Given the description of an element on the screen output the (x, y) to click on. 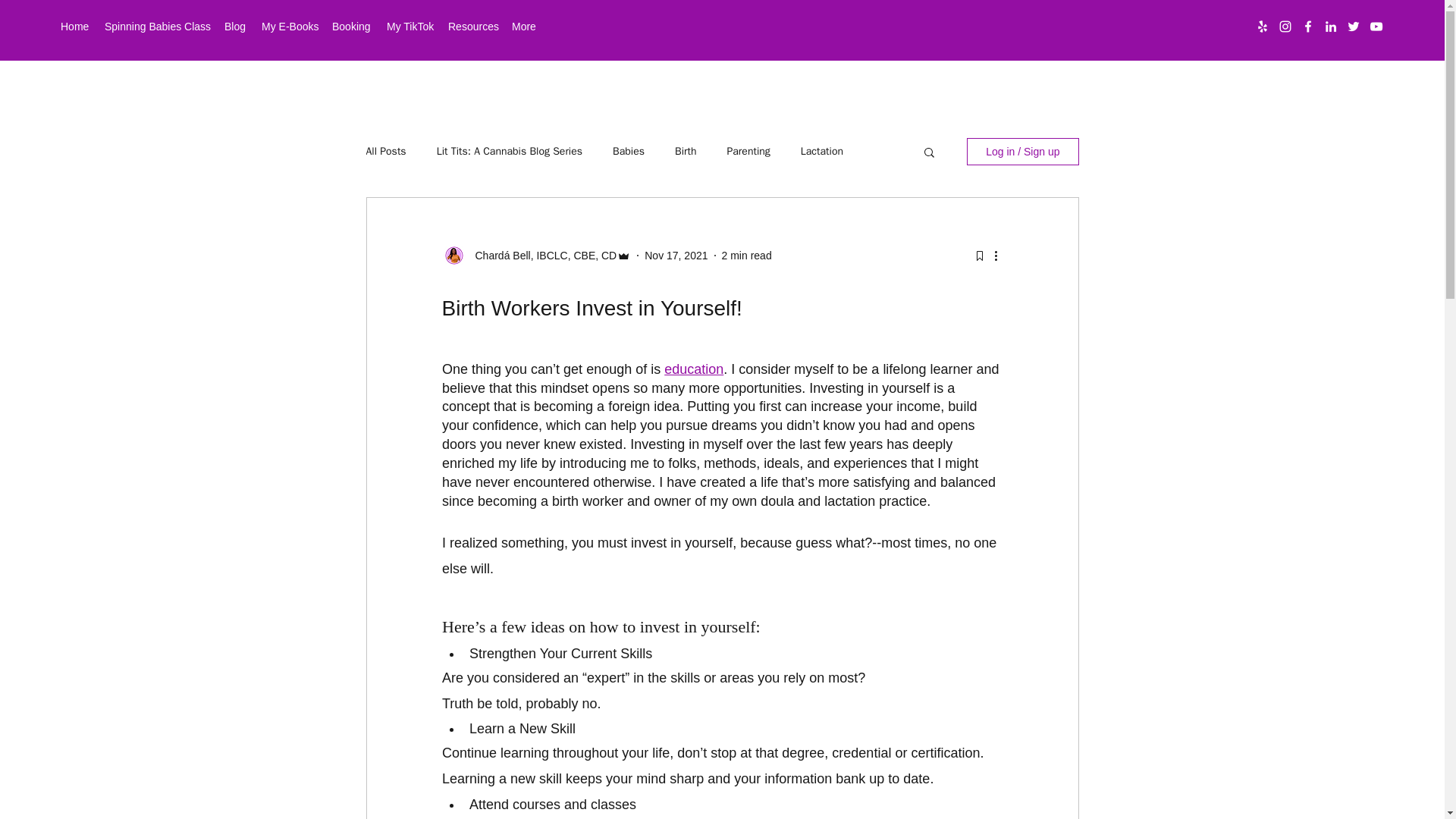
Blog (234, 26)
Lit Tits: A Cannabis Blog Series (509, 151)
Lactation (821, 151)
Resources (472, 26)
education (693, 368)
Spinning Babies Class (156, 26)
2 min read (746, 254)
My TikTok (409, 26)
Nov 17, 2021 (676, 254)
Home (74, 26)
